Given the description of an element on the screen output the (x, y) to click on. 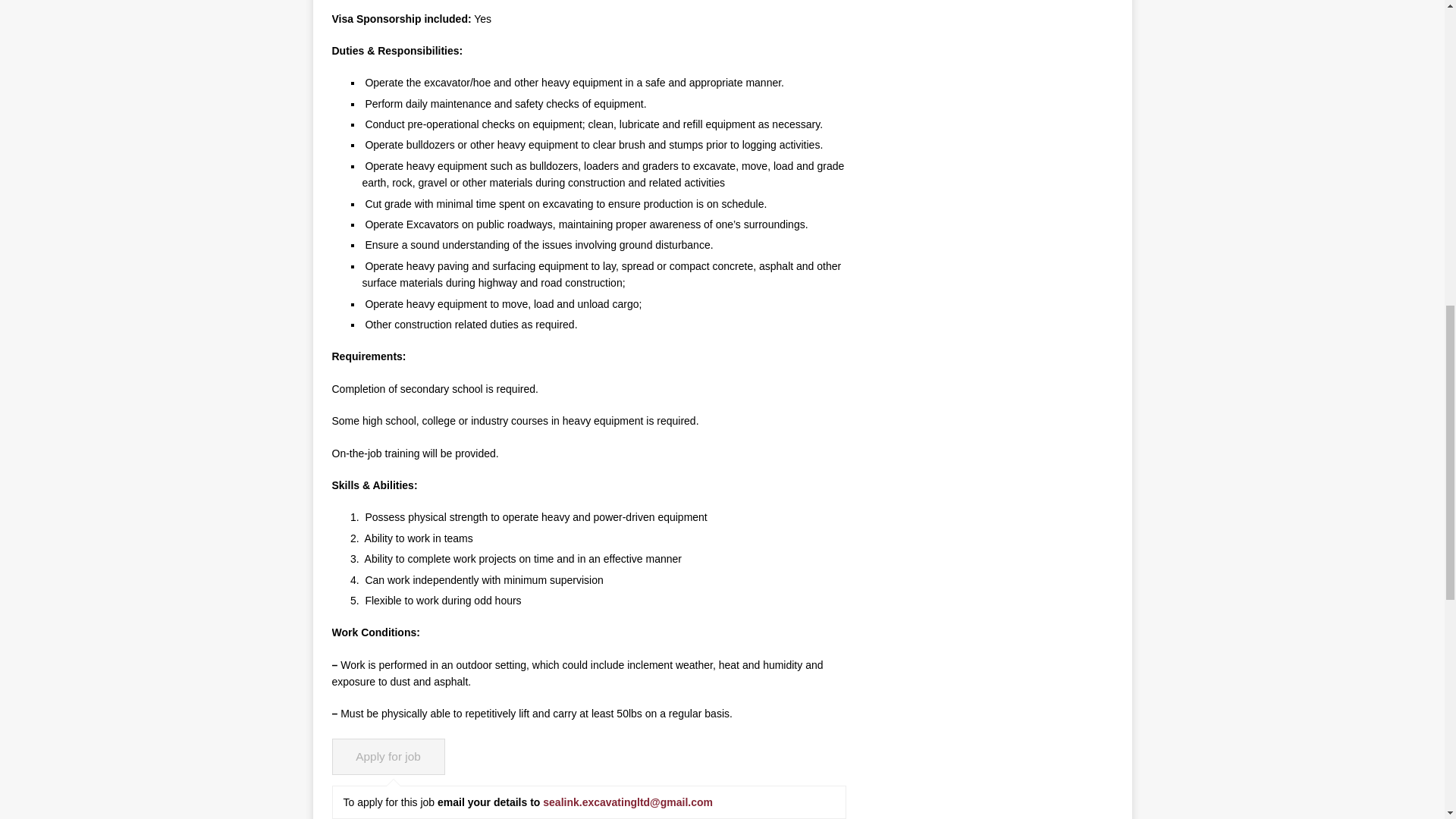
Apply for job (388, 756)
